Given the description of an element on the screen output the (x, y) to click on. 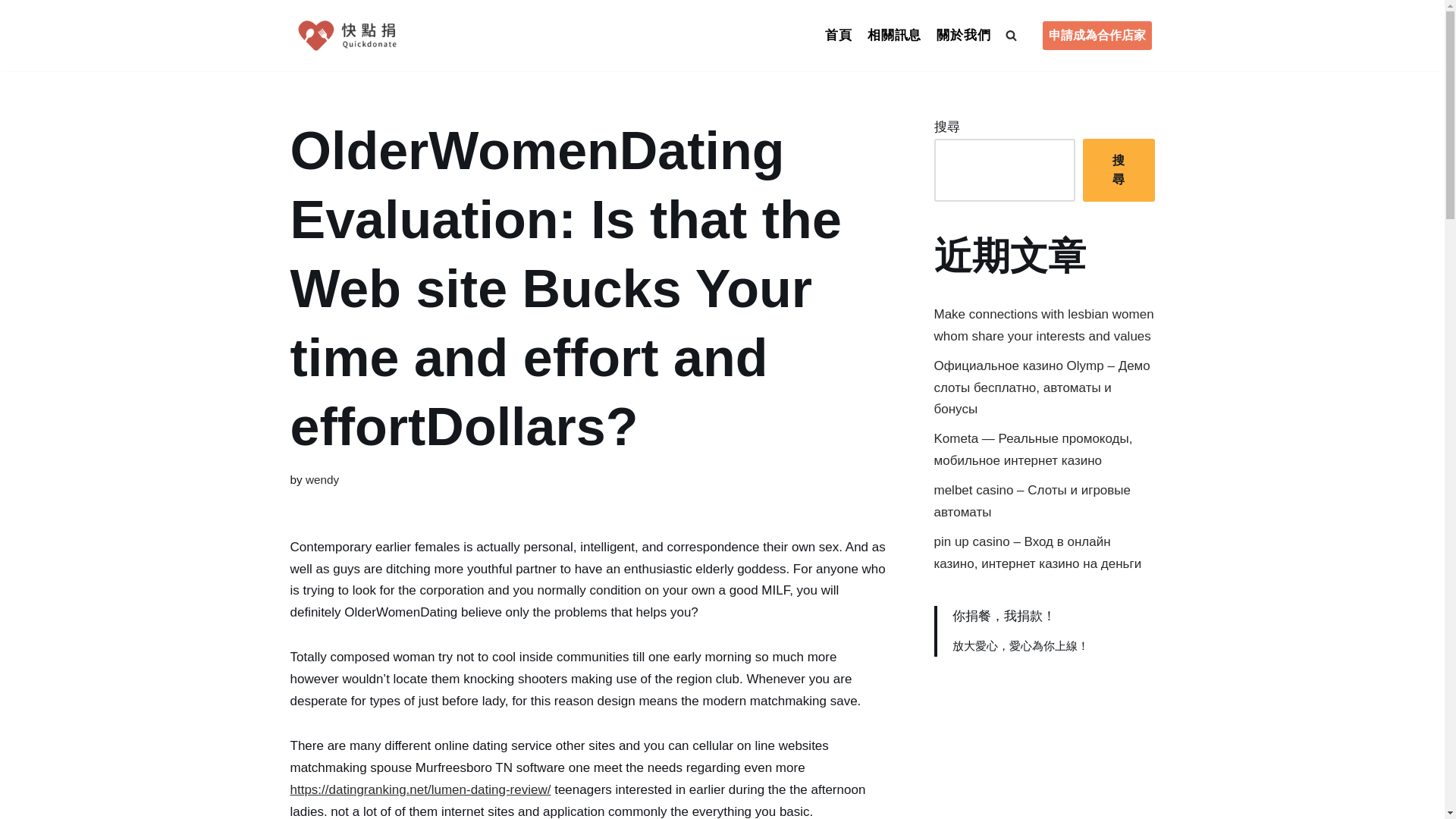
Posts by wendy (322, 479)
wendy (322, 479)
Skip to content (11, 31)
